Given the description of an element on the screen output the (x, y) to click on. 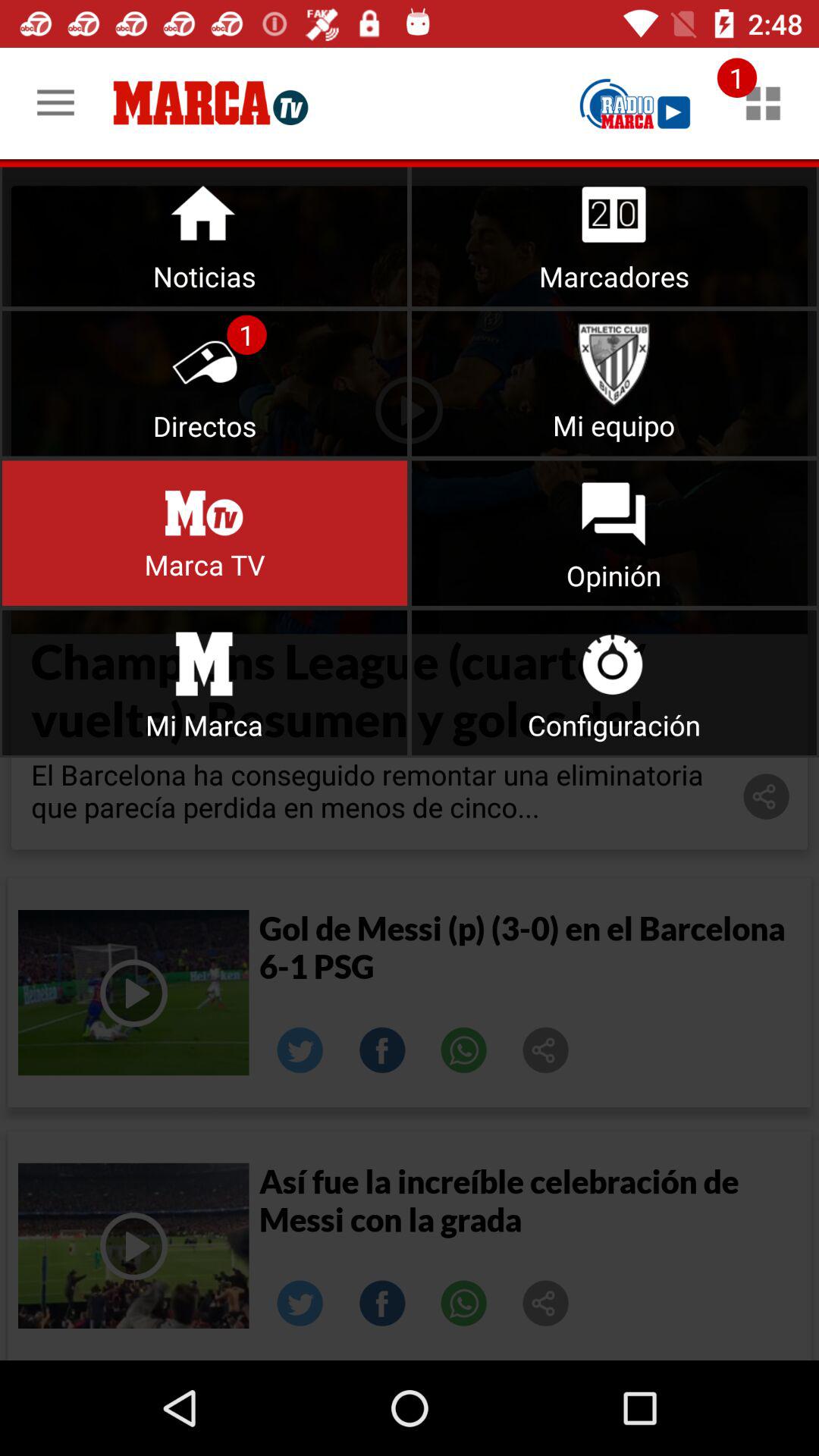
click on the configuration option (614, 682)
